Given the description of an element on the screen output the (x, y) to click on. 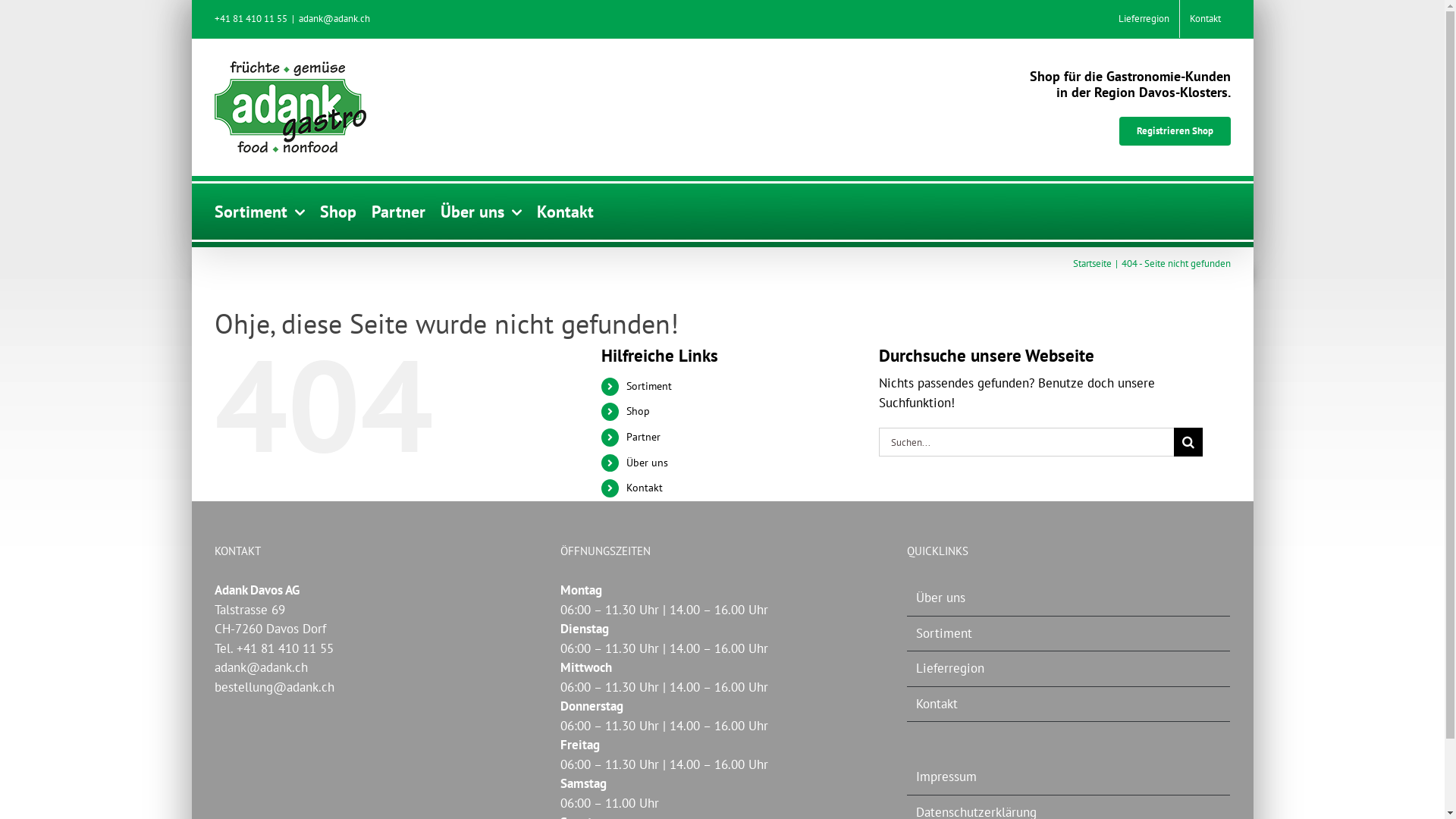
Kontakt Element type: text (564, 210)
adank@adank.ch Element type: text (334, 18)
Lieferregion Element type: text (1143, 18)
Startseite Element type: text (1091, 263)
Shop Element type: text (637, 410)
Impressum Element type: text (1069, 777)
Shop Element type: text (338, 210)
Partner Element type: text (643, 436)
Kontakt Element type: text (1069, 704)
adank@adank.ch Element type: text (260, 666)
Registrieren Shop Element type: text (1174, 130)
Lieferregion Element type: text (1069, 668)
Tel. +41 81 410 11 55 Element type: text (272, 648)
Kontakt Element type: text (644, 487)
Sortiment Element type: text (648, 385)
Sortiment Element type: text (258, 210)
Partner Element type: text (398, 210)
bestellung@adank.ch Element type: text (273, 686)
Kontakt Element type: text (1204, 18)
Sortiment Element type: text (1069, 633)
